Given the description of an element on the screen output the (x, y) to click on. 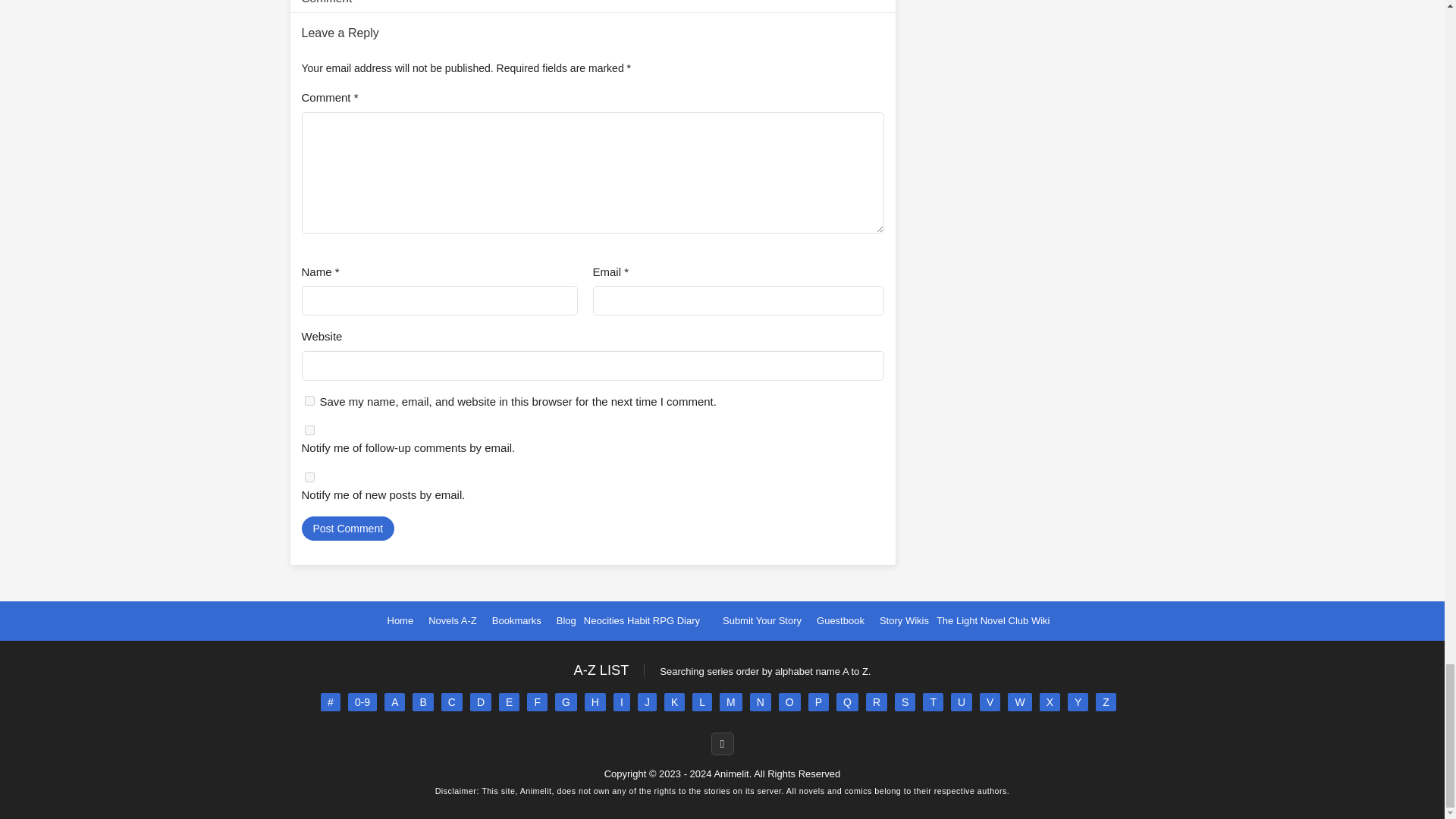
Post Comment (347, 528)
yes (309, 400)
Post Comment (347, 528)
subscribe (309, 429)
subscribe (309, 476)
